Given the description of an element on the screen output the (x, y) to click on. 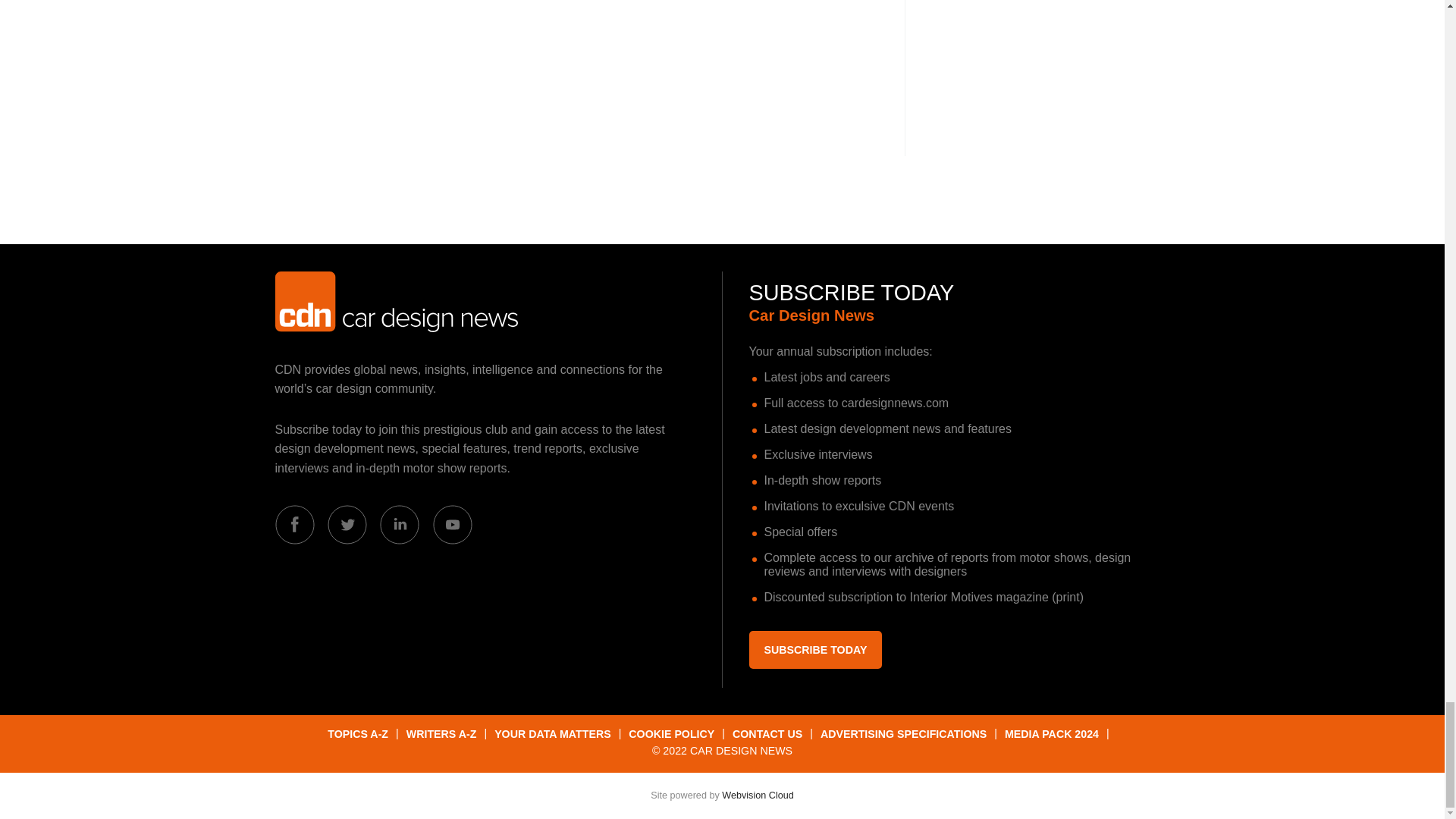
Connect with us on Linked In (399, 524)
Connect with us on Youtube (451, 524)
Connect with us on Facebook (294, 524)
Connect with us on Twitter (346, 524)
footer-logo (395, 301)
